Given the description of an element on the screen output the (x, y) to click on. 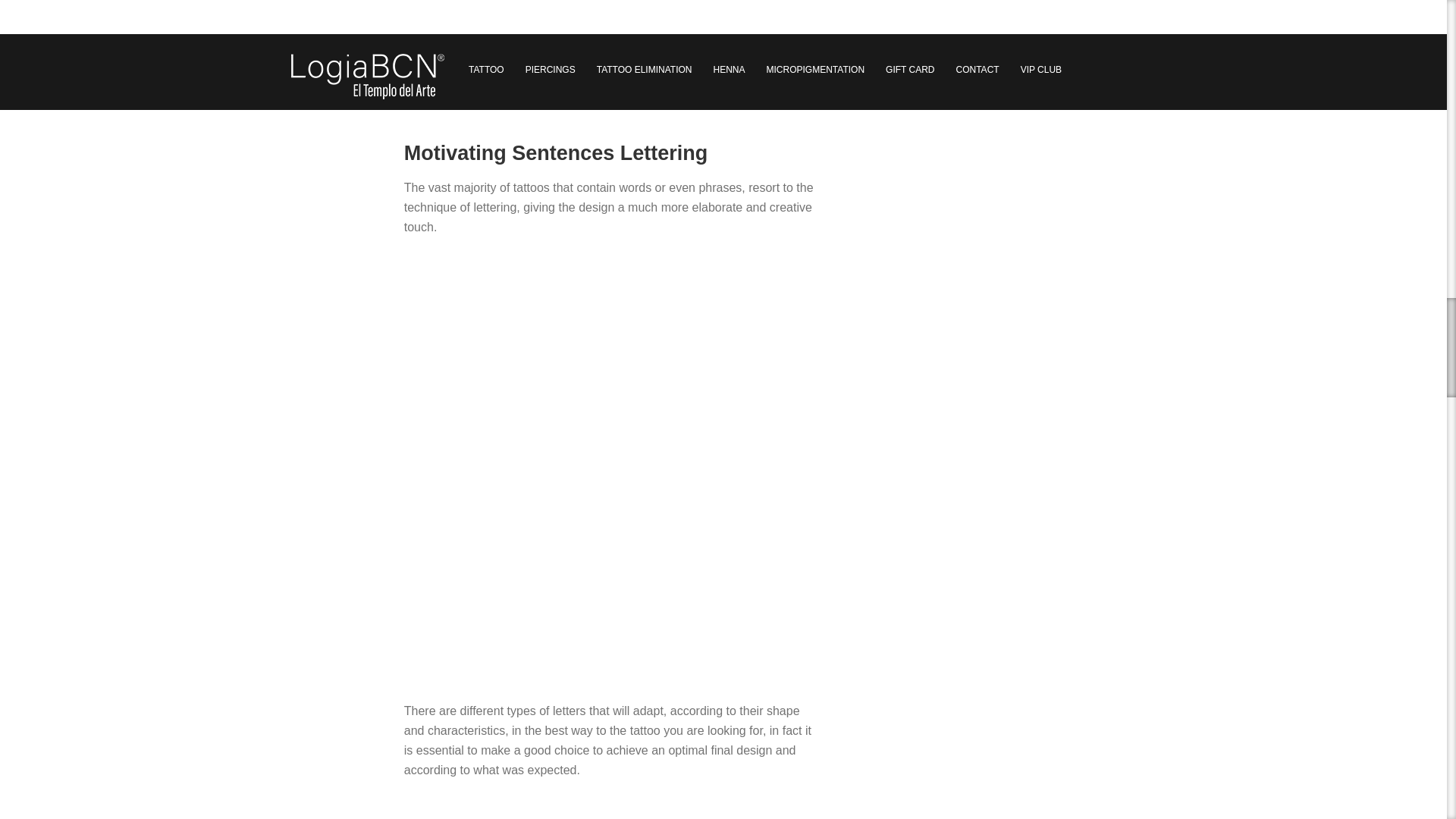
tatuaje lettering (612, 48)
tattoo lettering (612, 807)
